Given the description of an element on the screen output the (x, y) to click on. 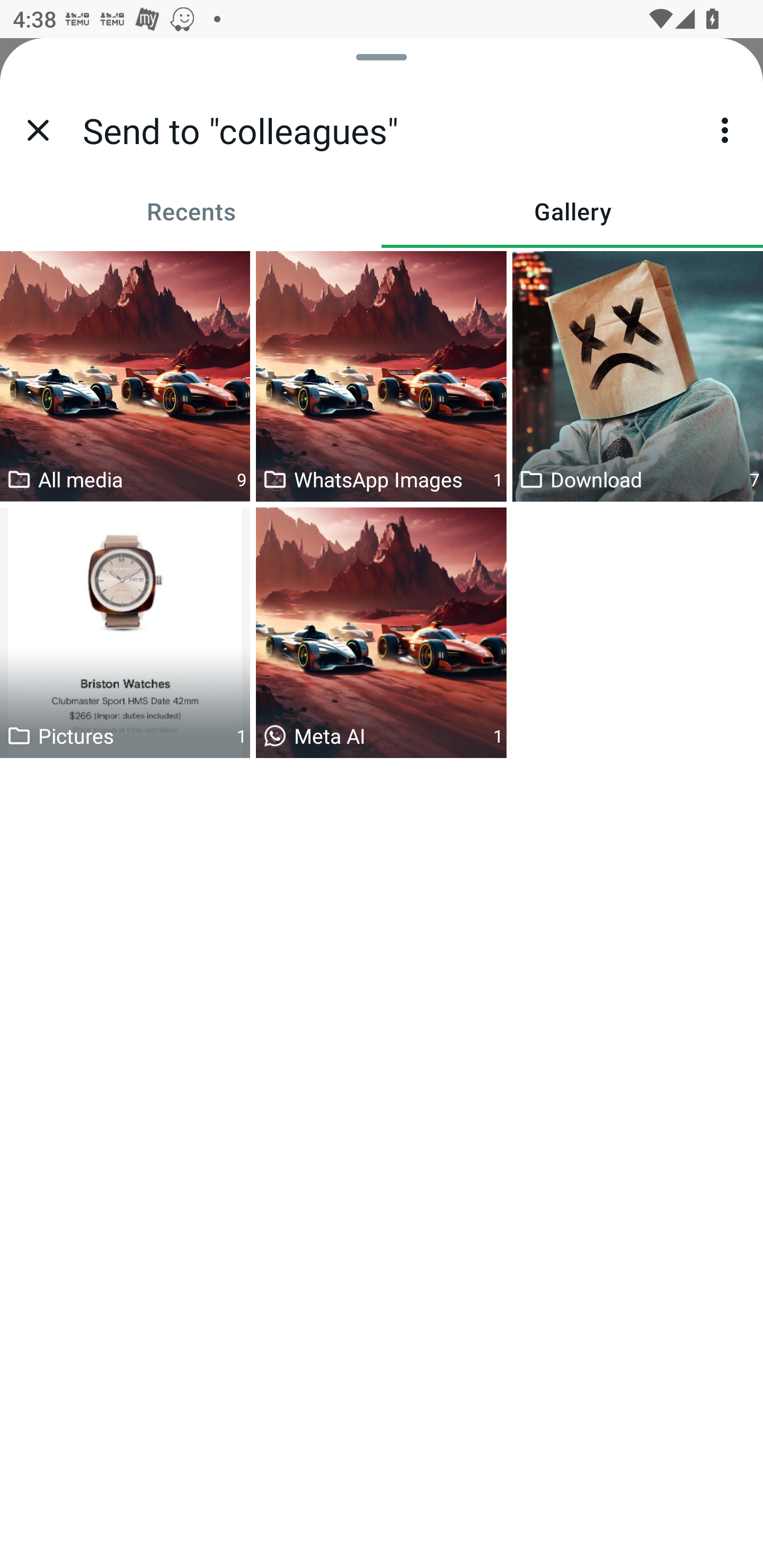
Close (38, 130)
More (724, 129)
Recents (190, 210)
All media 9 (125, 375)
WhatsApp Images 1 (380, 375)
Download 7 (637, 375)
Pictures 1 (125, 632)
Meta AI 1 (380, 632)
